Given the description of an element on the screen output the (x, y) to click on. 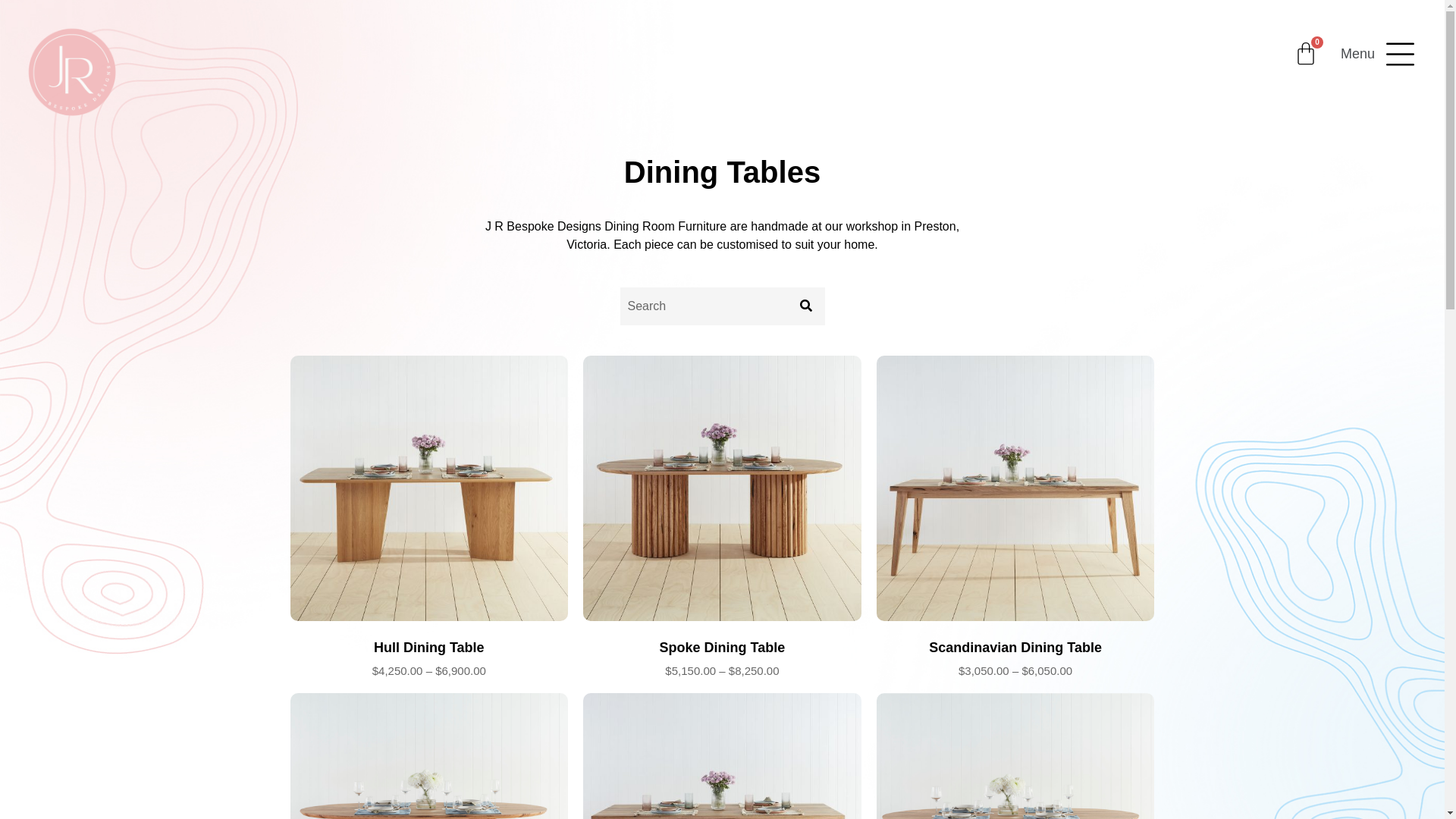
Hull Dining Table Element type: text (428, 648)
Scandinavian Dining Table Element type: text (1015, 648)
Spoke Dining Table Element type: text (722, 648)
Search Element type: hover (703, 306)
